Given the description of an element on the screen output the (x, y) to click on. 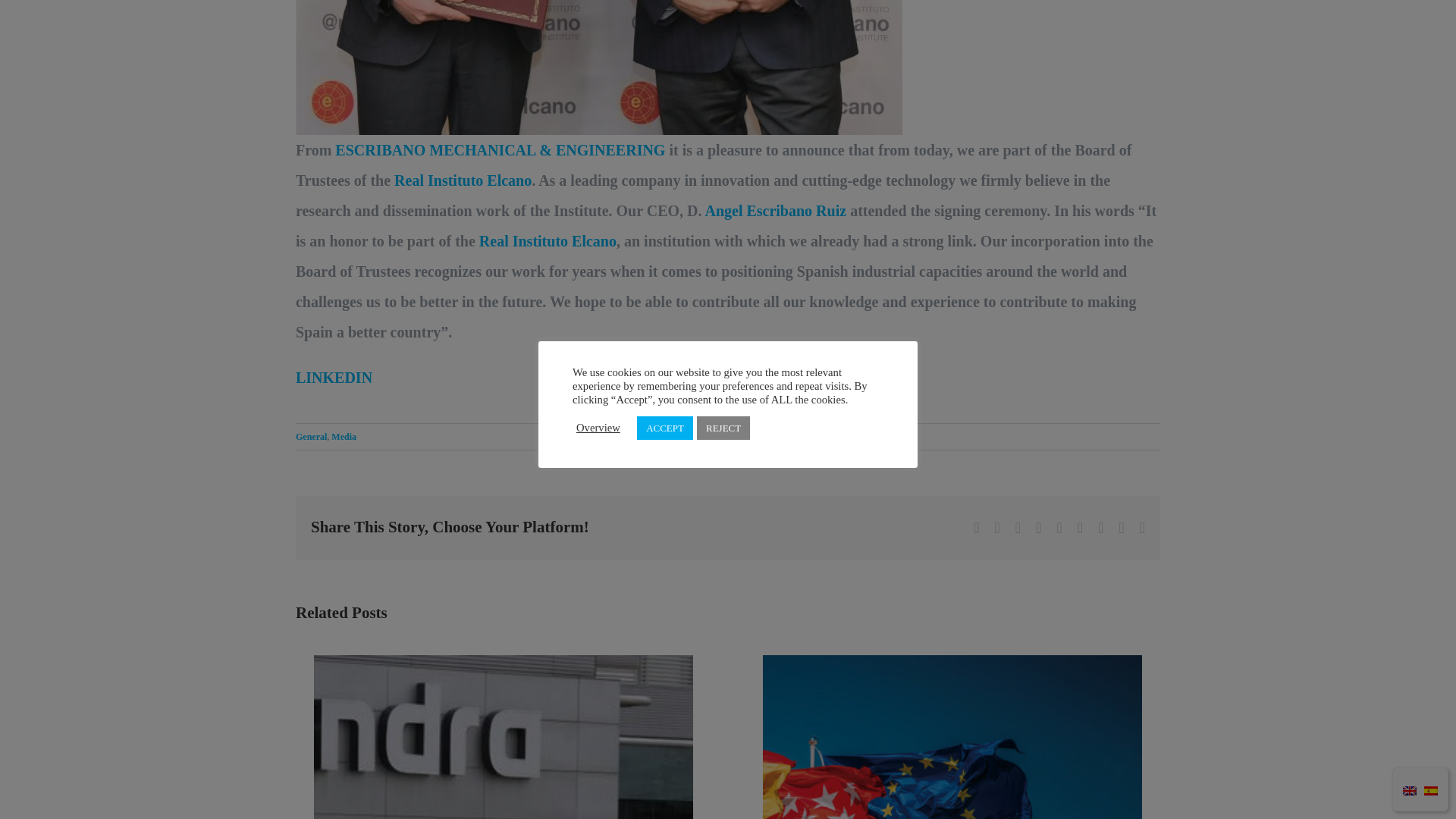
Angel Escribano (598, 67)
